Given the description of an element on the screen output the (x, y) to click on. 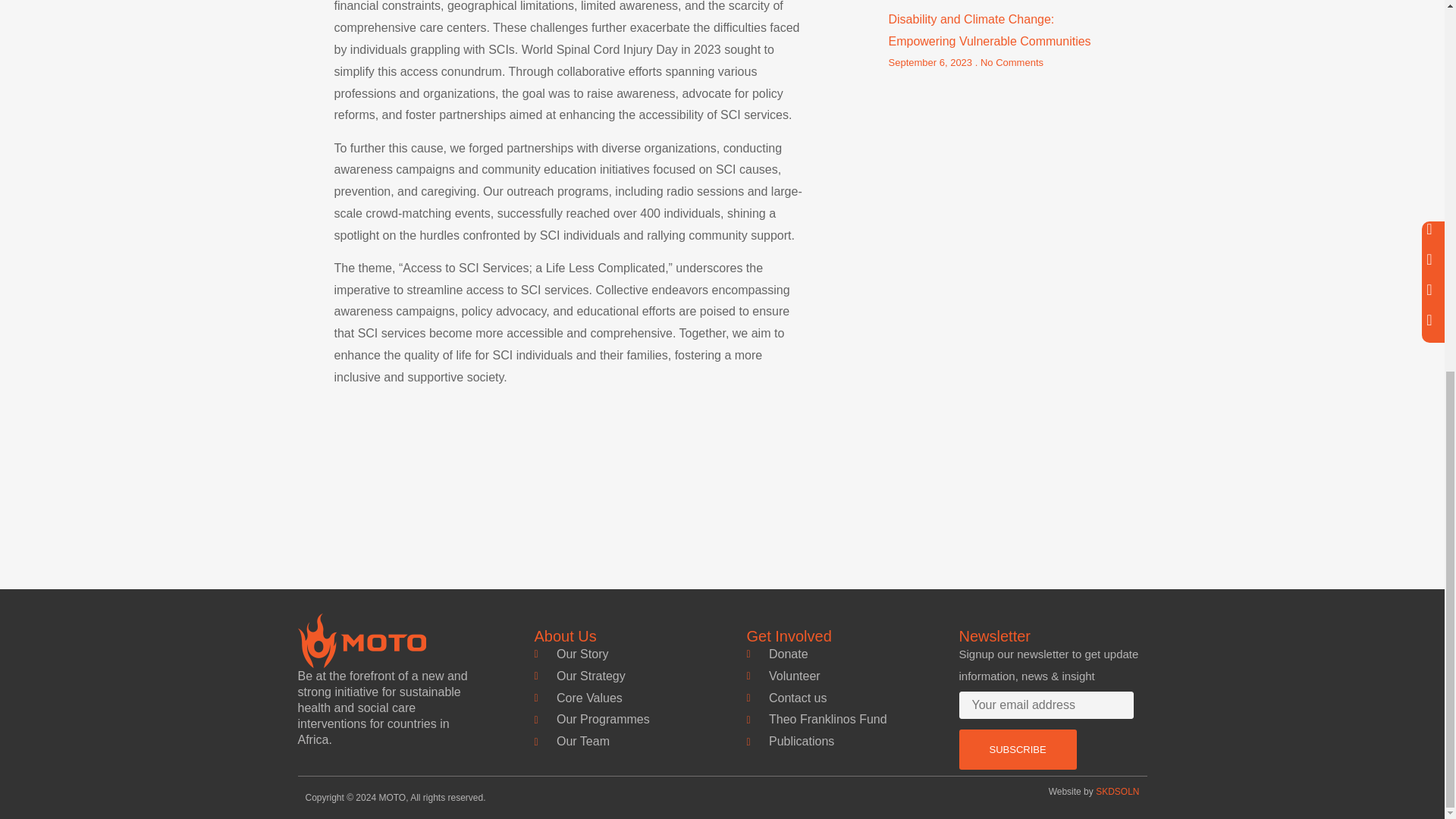
MOTO LOGO (361, 640)
Subscribe (1016, 749)
